Given the description of an element on the screen output the (x, y) to click on. 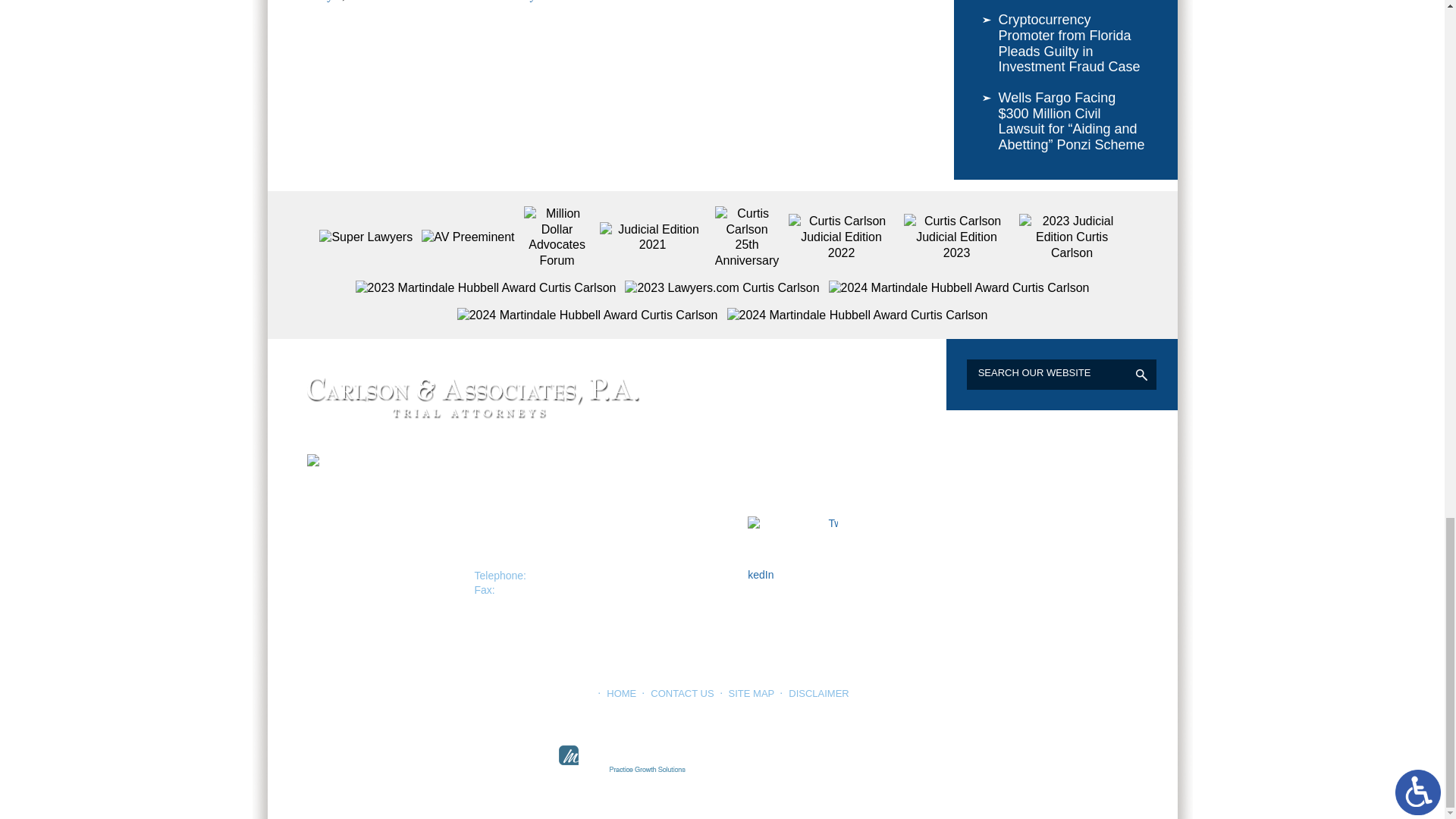
Search Our Website (1035, 371)
